Given the description of an element on the screen output the (x, y) to click on. 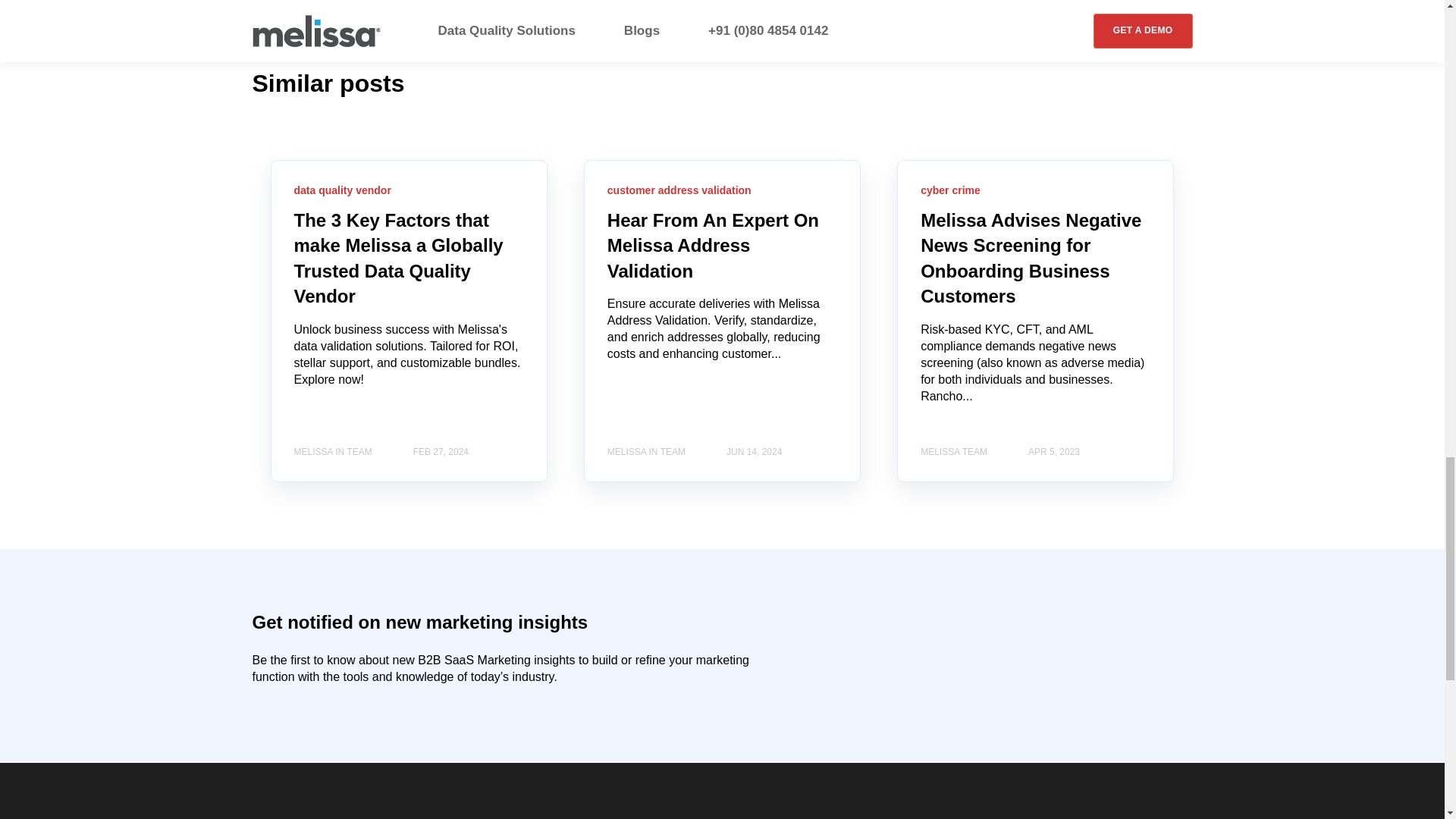
Hear From An Expert On Melissa Address Validation (712, 245)
